Given the description of an element on the screen output the (x, y) to click on. 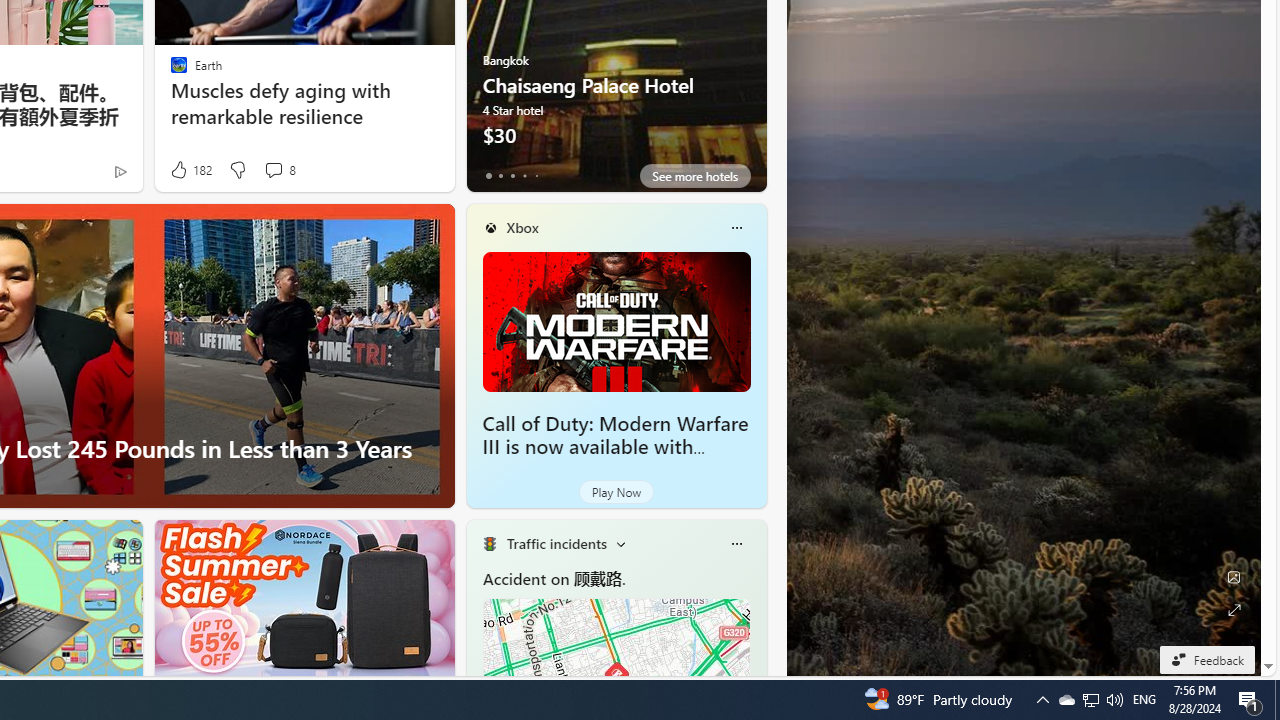
Xbox (521, 227)
Traffic Title Traffic Light (489, 543)
Change scenarios (620, 543)
tab-3 (524, 175)
182 Like (190, 170)
tab-0 (488, 175)
Class: icon-img (736, 543)
Play Now (616, 491)
View comments 8 Comment (279, 170)
tab-1 (500, 175)
